Given the description of an element on the screen output the (x, y) to click on. 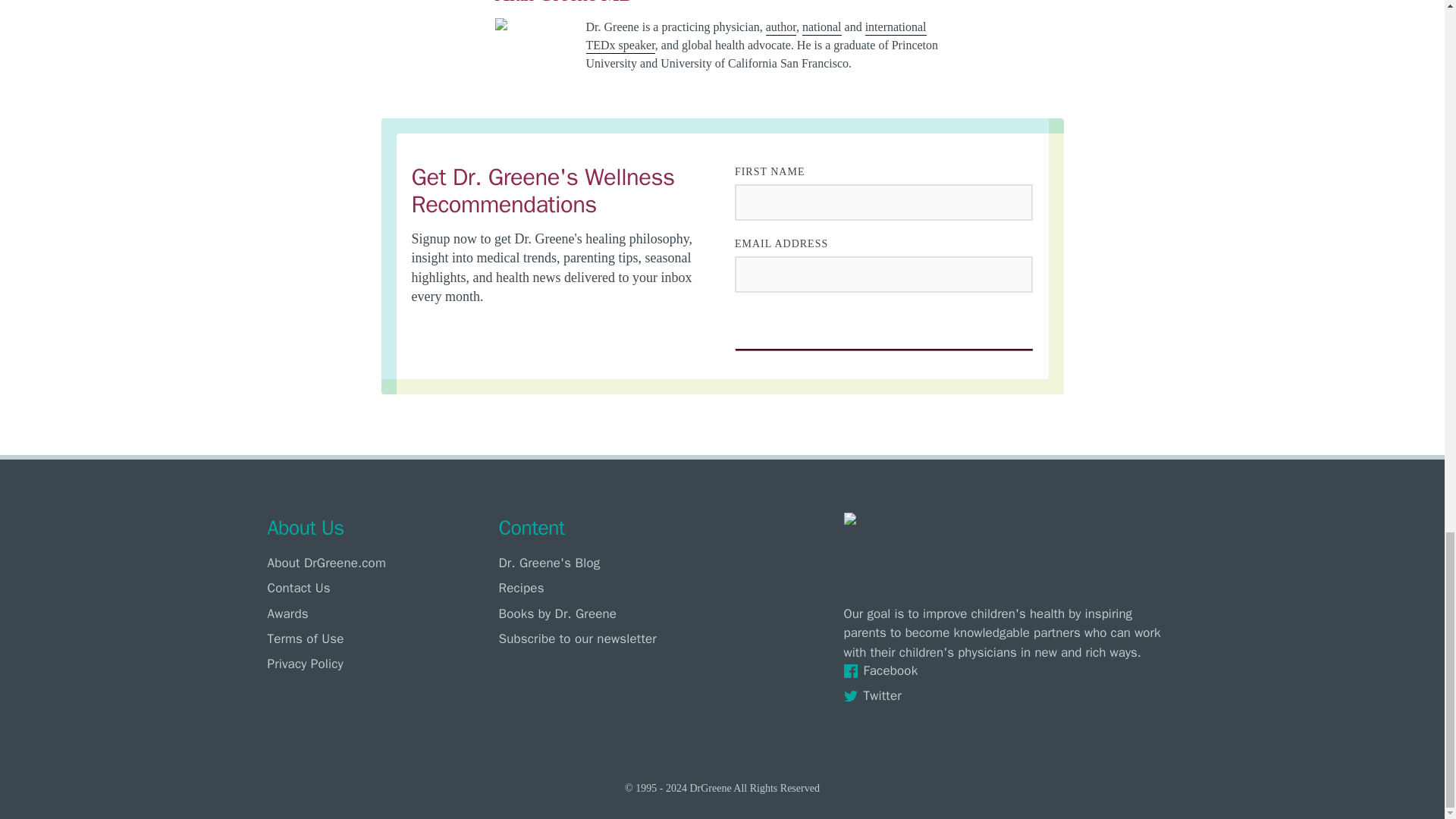
About DrGreene.com (378, 562)
Contact Us (378, 587)
international TEDx speaker (755, 37)
Twitter (1009, 695)
Awards (378, 613)
Books by Dr. Greene (610, 613)
Subscribe to our newsletter (610, 638)
Dr. Greene's Blog (610, 562)
Facebook (1009, 670)
national (821, 28)
